Given the description of an element on the screen output the (x, y) to click on. 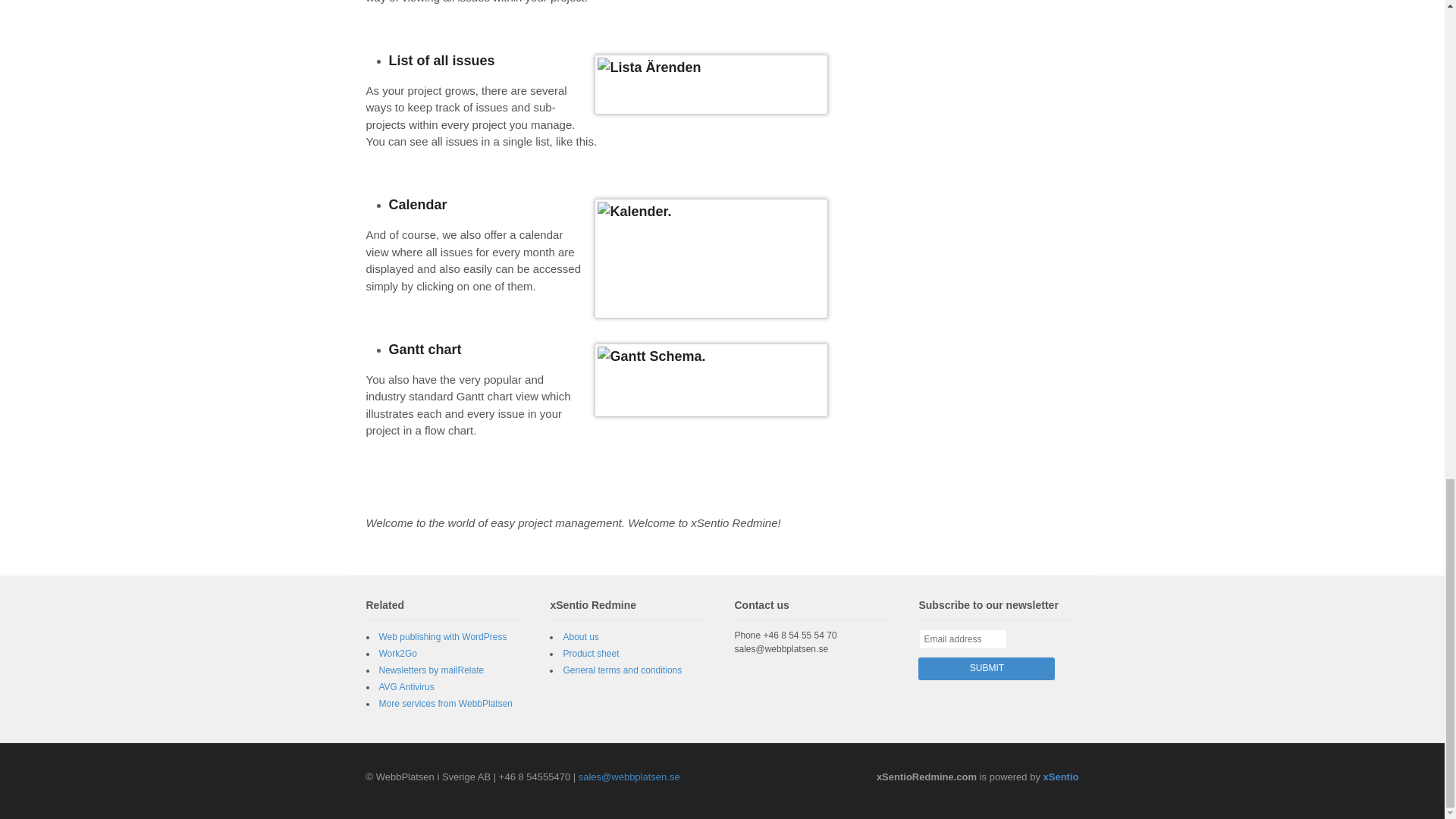
AVG Antivirus - your AVG reseller in Sweden (405, 686)
Web publishing with WordPress (442, 636)
Work2Go (397, 653)
About us (580, 636)
Submit (986, 668)
WebbPlatsen (445, 703)
AVG Antivirus (405, 686)
Product sheet (590, 653)
General terms and conditions (621, 670)
